Given the description of an element on the screen output the (x, y) to click on. 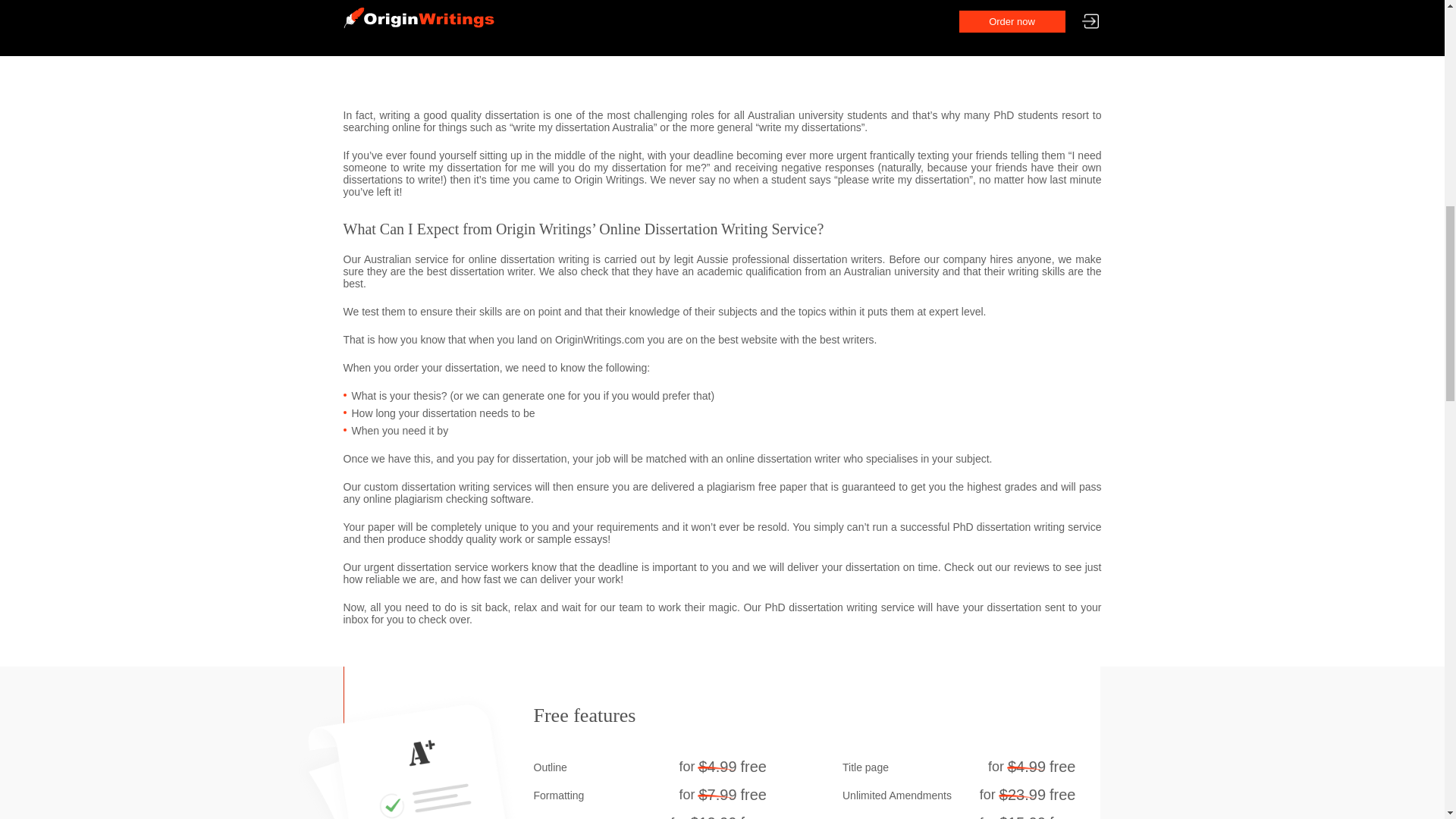
Order now (1031, 26)
Check prices (879, 26)
